Given the description of an element on the screen output the (x, y) to click on. 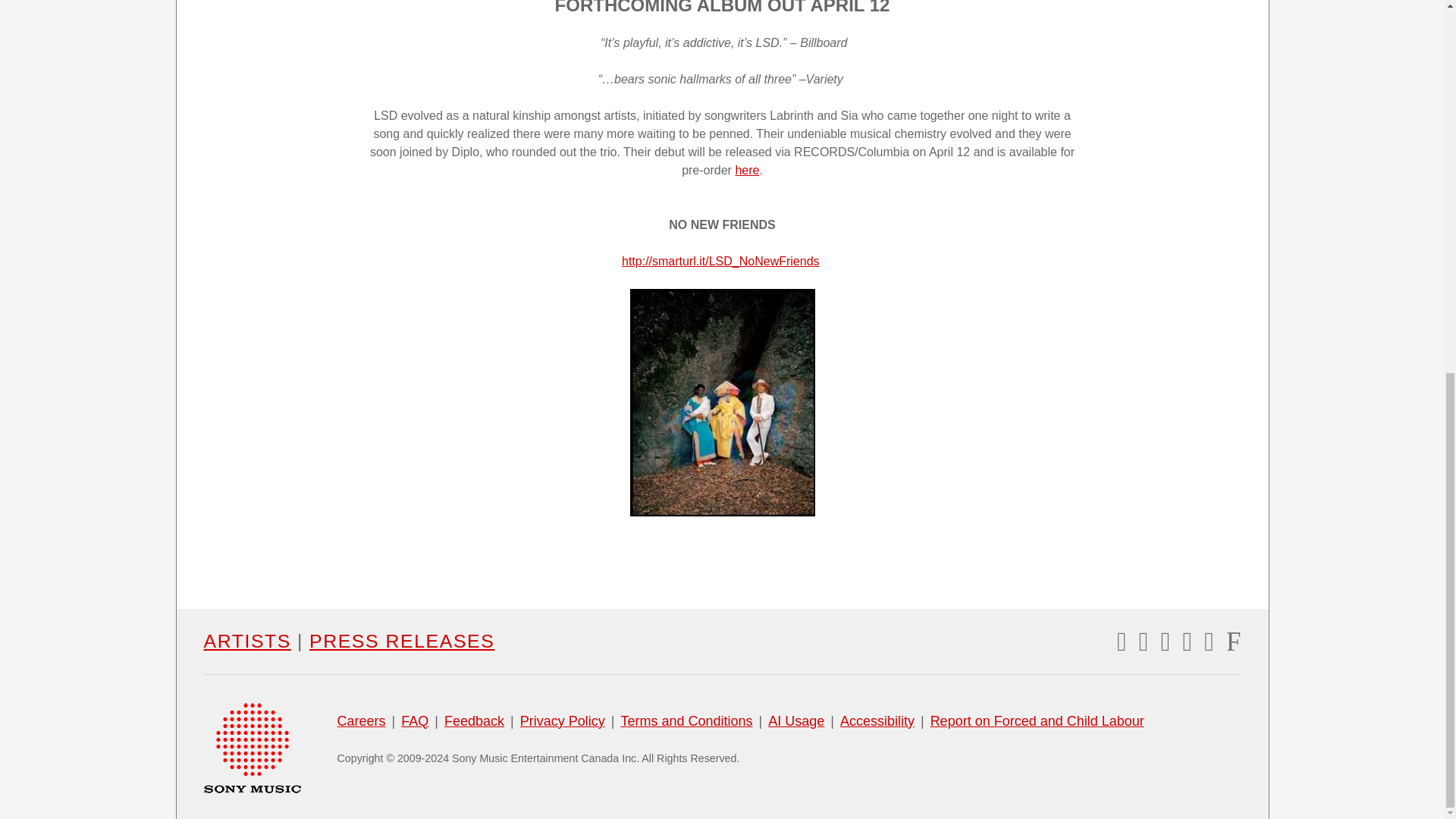
AI Usage (796, 721)
Sony Music Canada (251, 745)
Report on Forced and Child Labour (1037, 721)
here (746, 169)
Careers (360, 721)
PRESS RELEASES (401, 641)
Feedback (473, 721)
Accessibility (877, 721)
ARTISTS (246, 641)
Privacy Policy (562, 721)
